Given the description of an element on the screen output the (x, y) to click on. 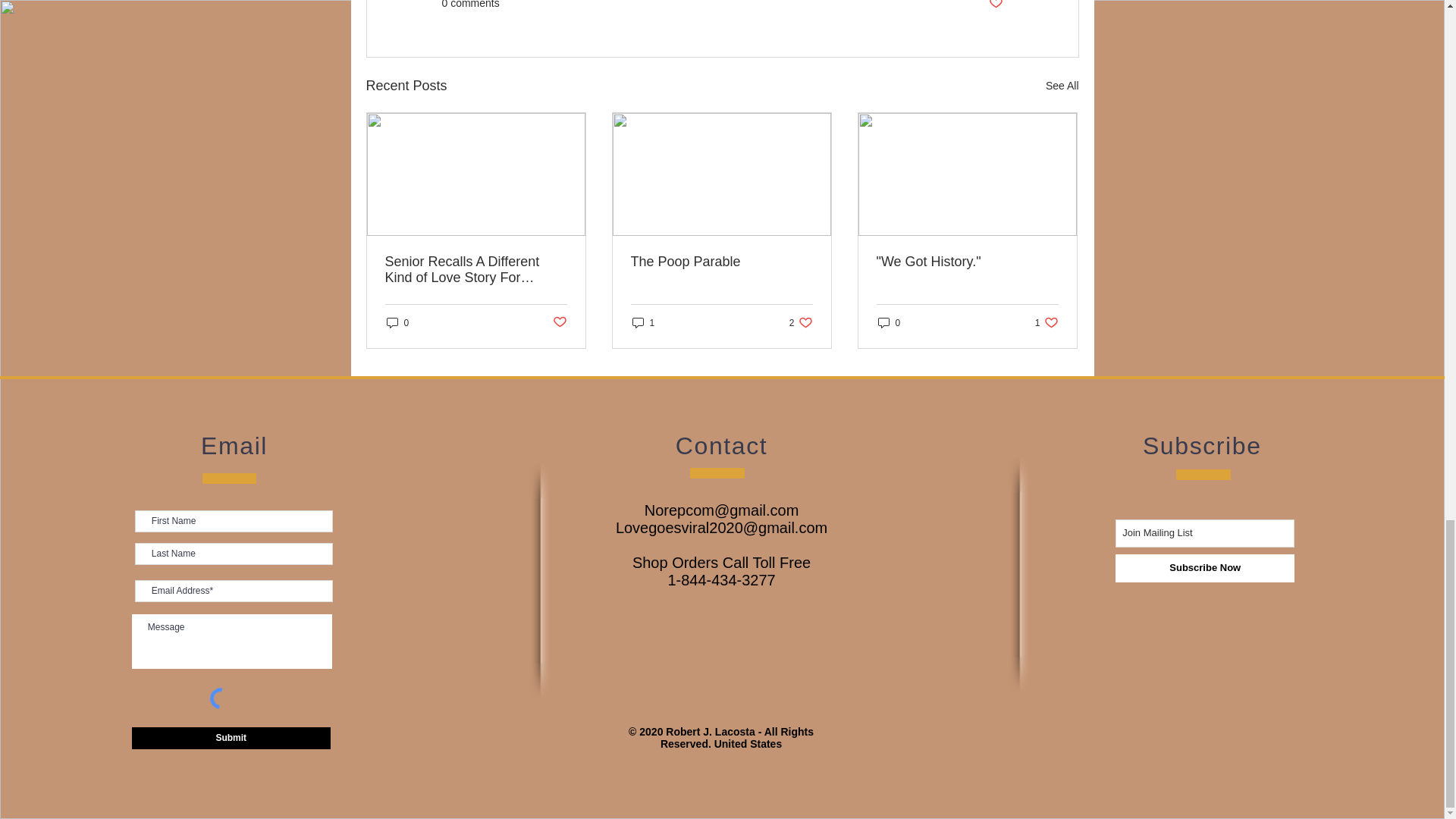
0 (397, 322)
1 (643, 322)
Post not marked as liked (558, 322)
The Poop Parable (721, 261)
Post not marked as liked (995, 5)
See All (1061, 86)
